Given the description of an element on the screen output the (x, y) to click on. 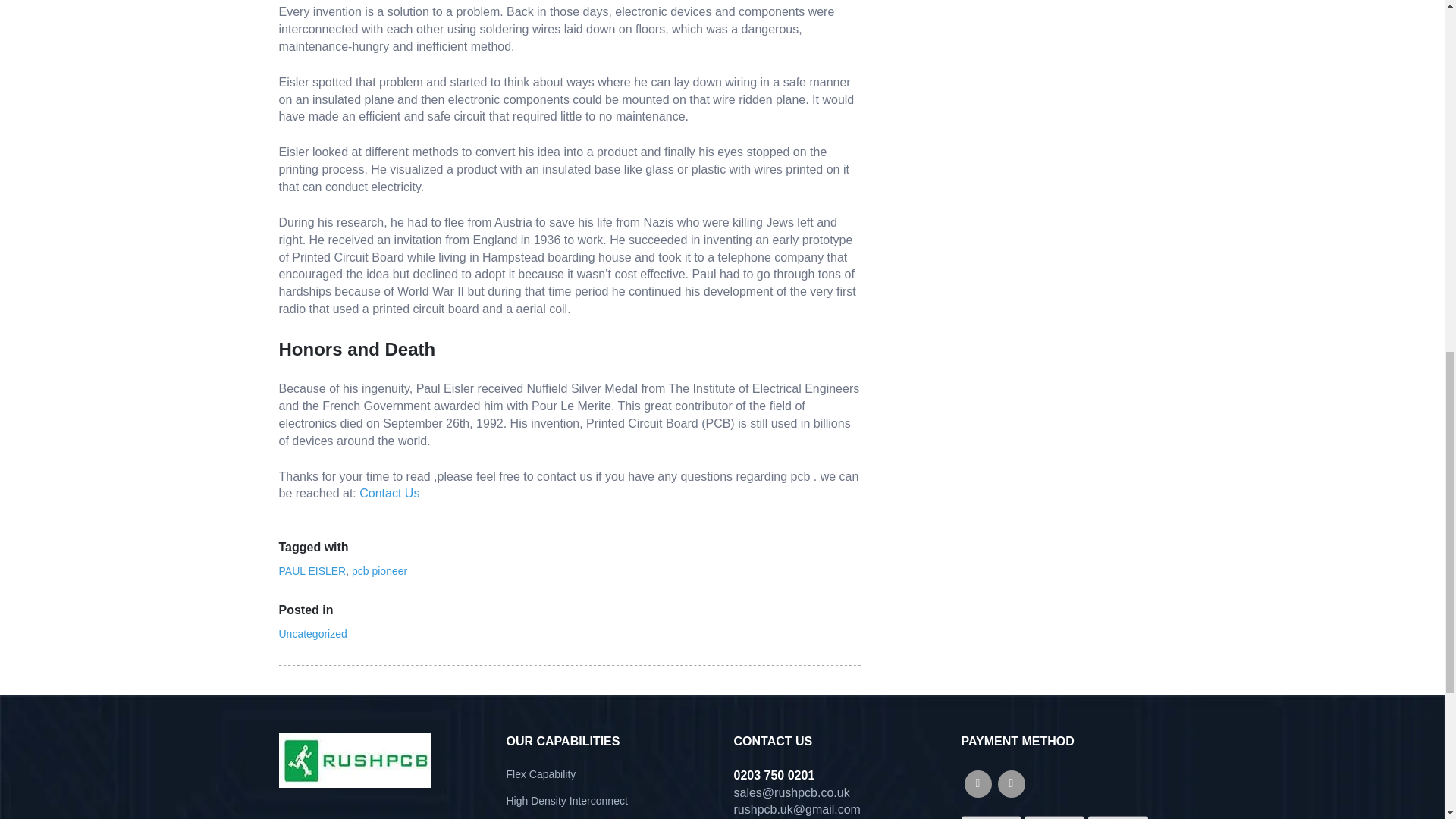
Facebook (977, 783)
Twitter (1011, 783)
